Given the description of an element on the screen output the (x, y) to click on. 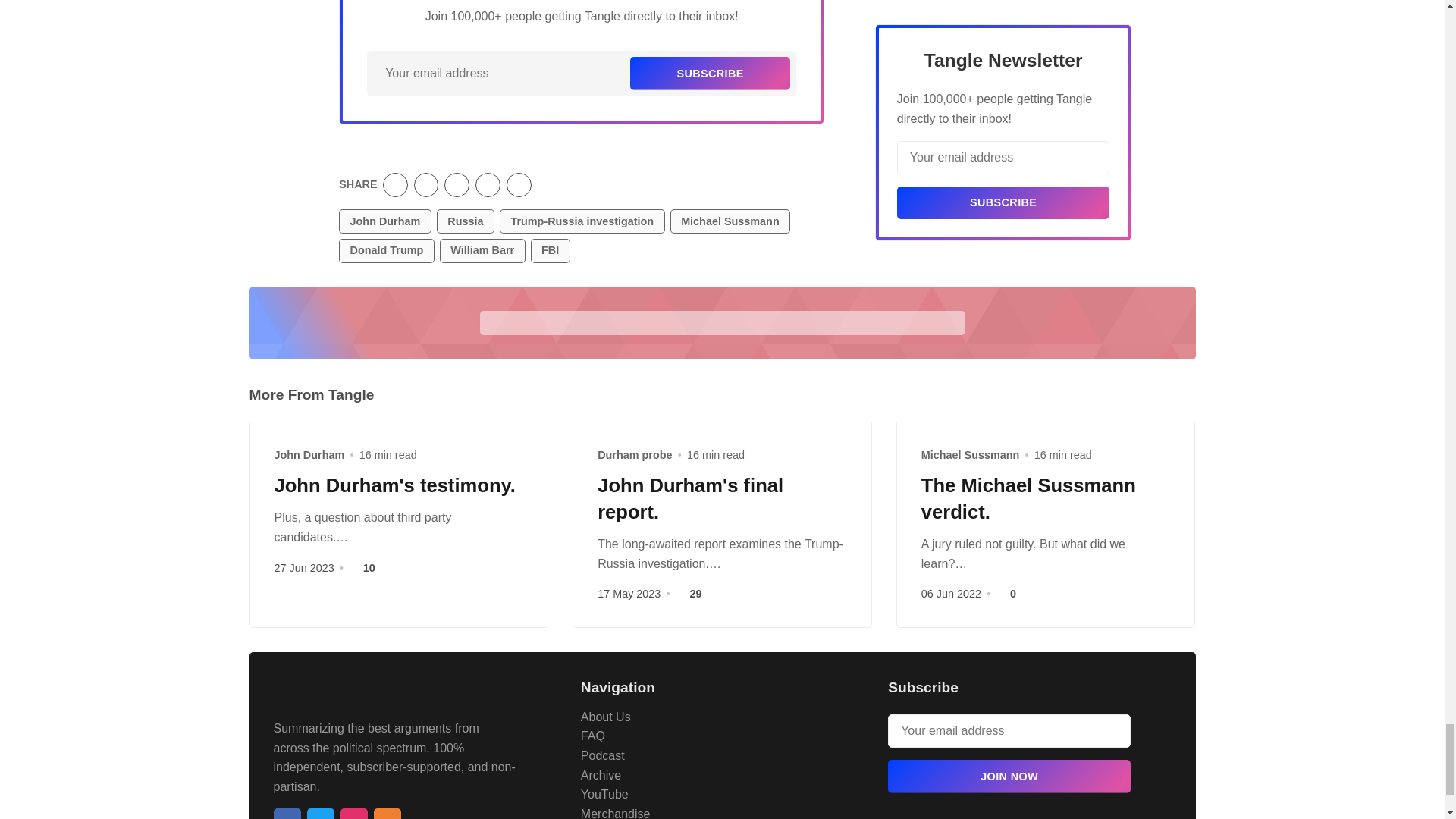
Share on Twitter (394, 185)
Share on Facebook (426, 185)
Copy to clipboard (518, 185)
Instagram (352, 813)
Share by email (488, 185)
Share on Linkedin (456, 185)
Facebook (286, 813)
RSS (386, 813)
Twitter (319, 813)
